Given the description of an element on the screen output the (x, y) to click on. 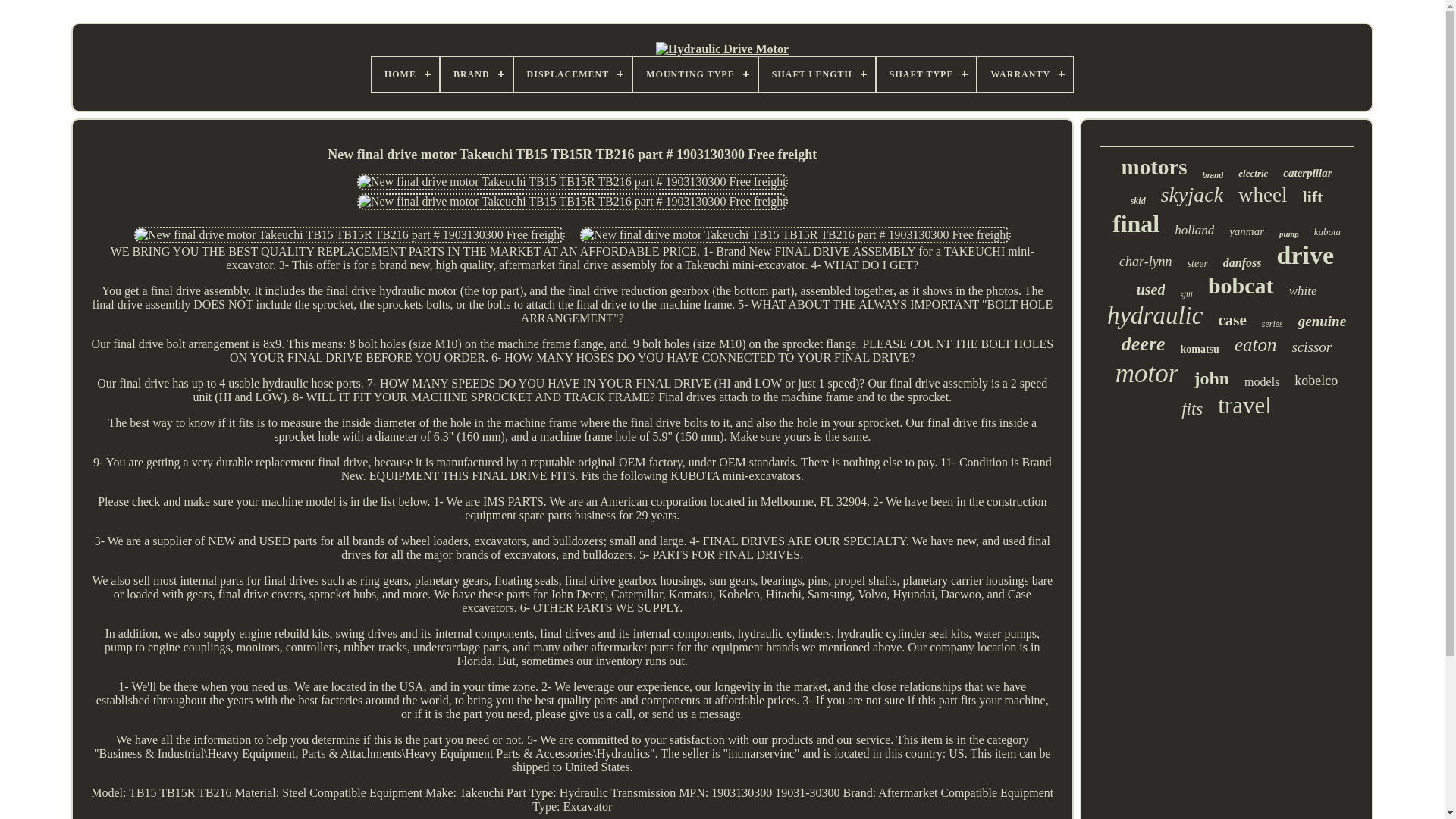
HOME (405, 73)
BRAND (476, 73)
DISPLACEMENT (572, 73)
